Given the description of an element on the screen output the (x, y) to click on. 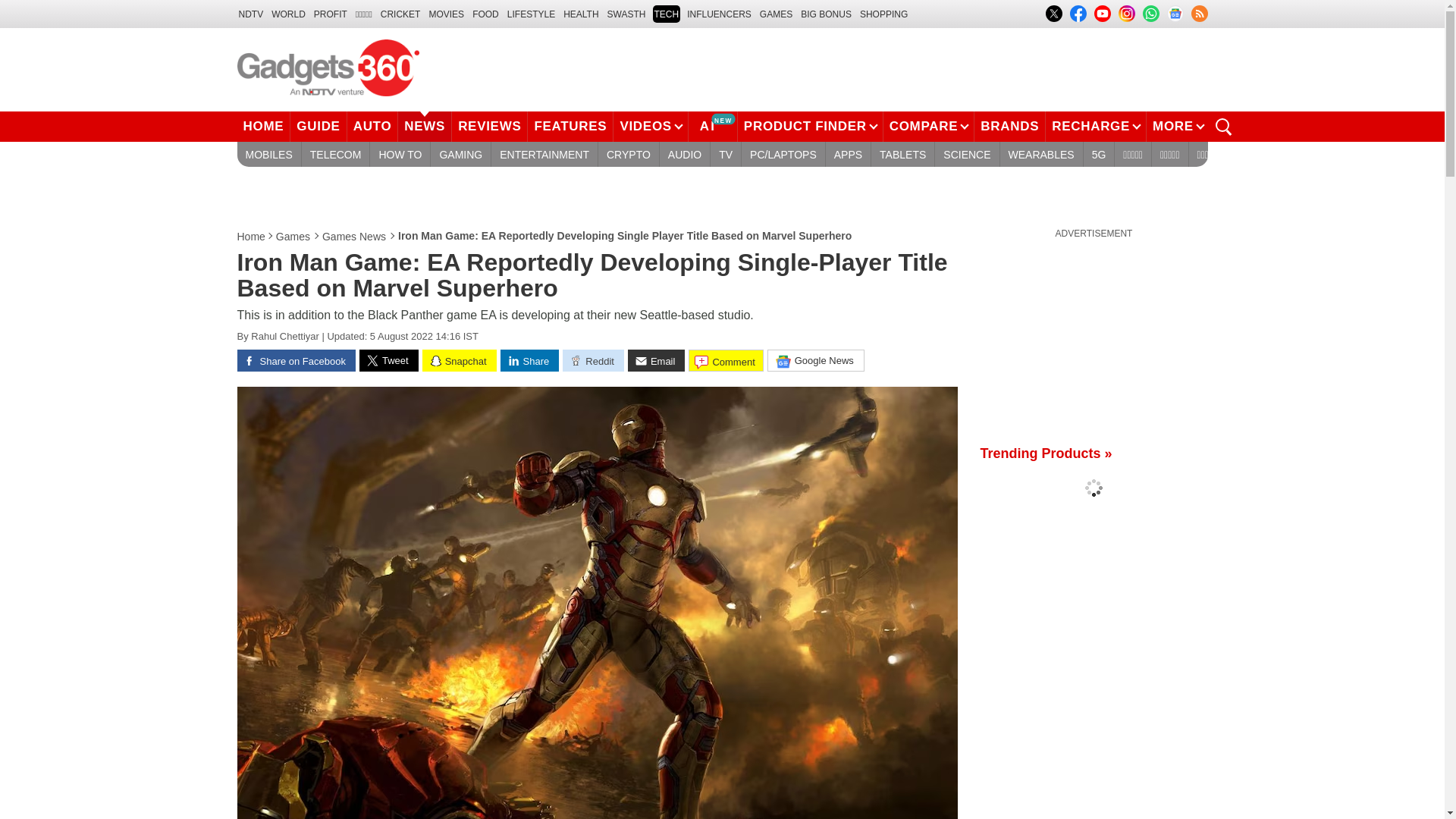
BIG BONUS (826, 13)
Home (250, 236)
Gadgets 360 (327, 67)
HOME (262, 126)
REVIEWS (489, 126)
SHOPPING (883, 13)
SWASTH (626, 13)
TECH (665, 13)
FOOD (485, 13)
Big Bonus (826, 13)
AUTO (372, 126)
HEALTH (580, 13)
NDTV (249, 13)
LIFESTYLE (530, 13)
SWASTH (626, 13)
